Given the description of an element on the screen output the (x, y) to click on. 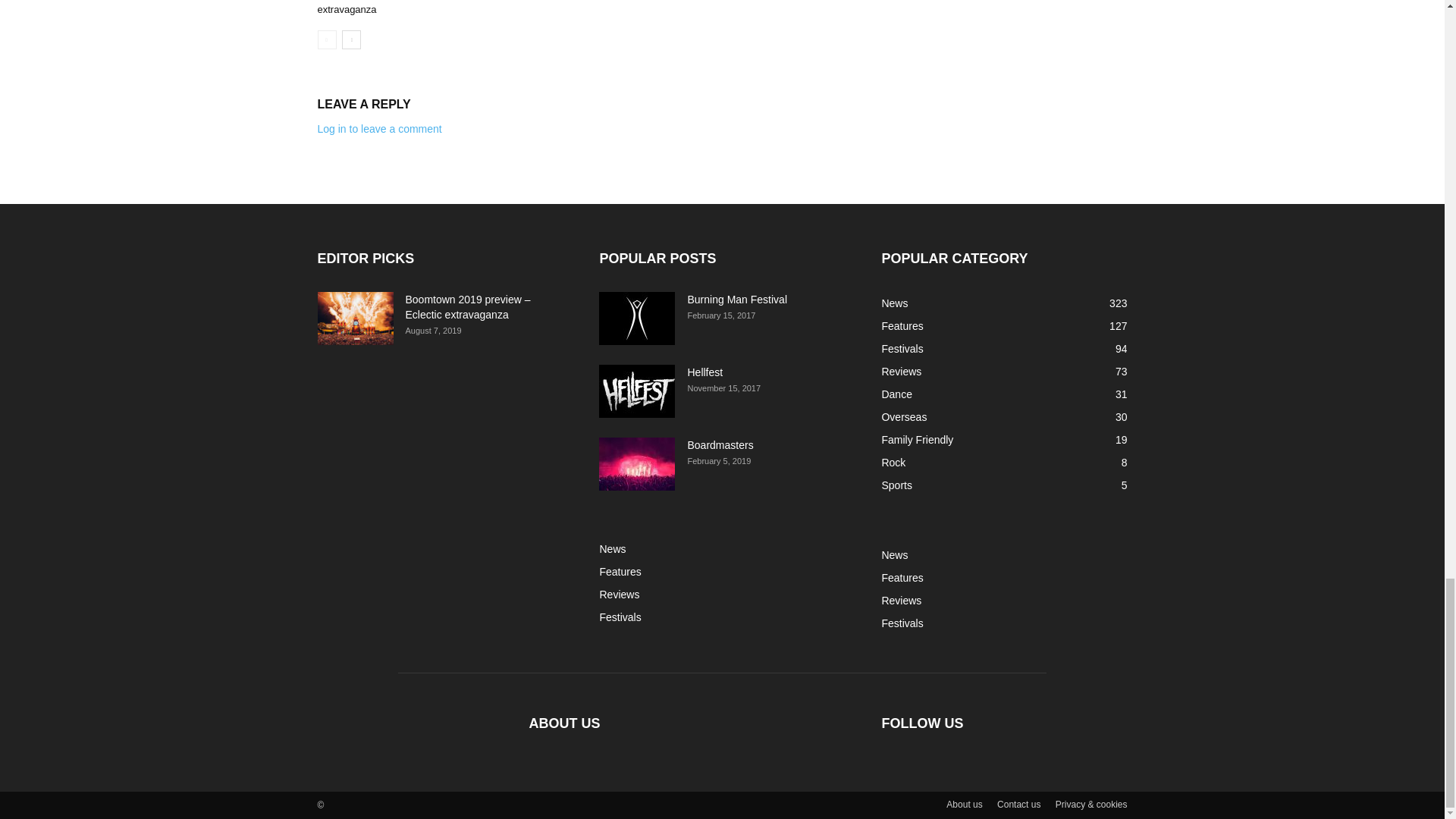
Burning Man Festival (636, 317)
